Given the description of an element on the screen output the (x, y) to click on. 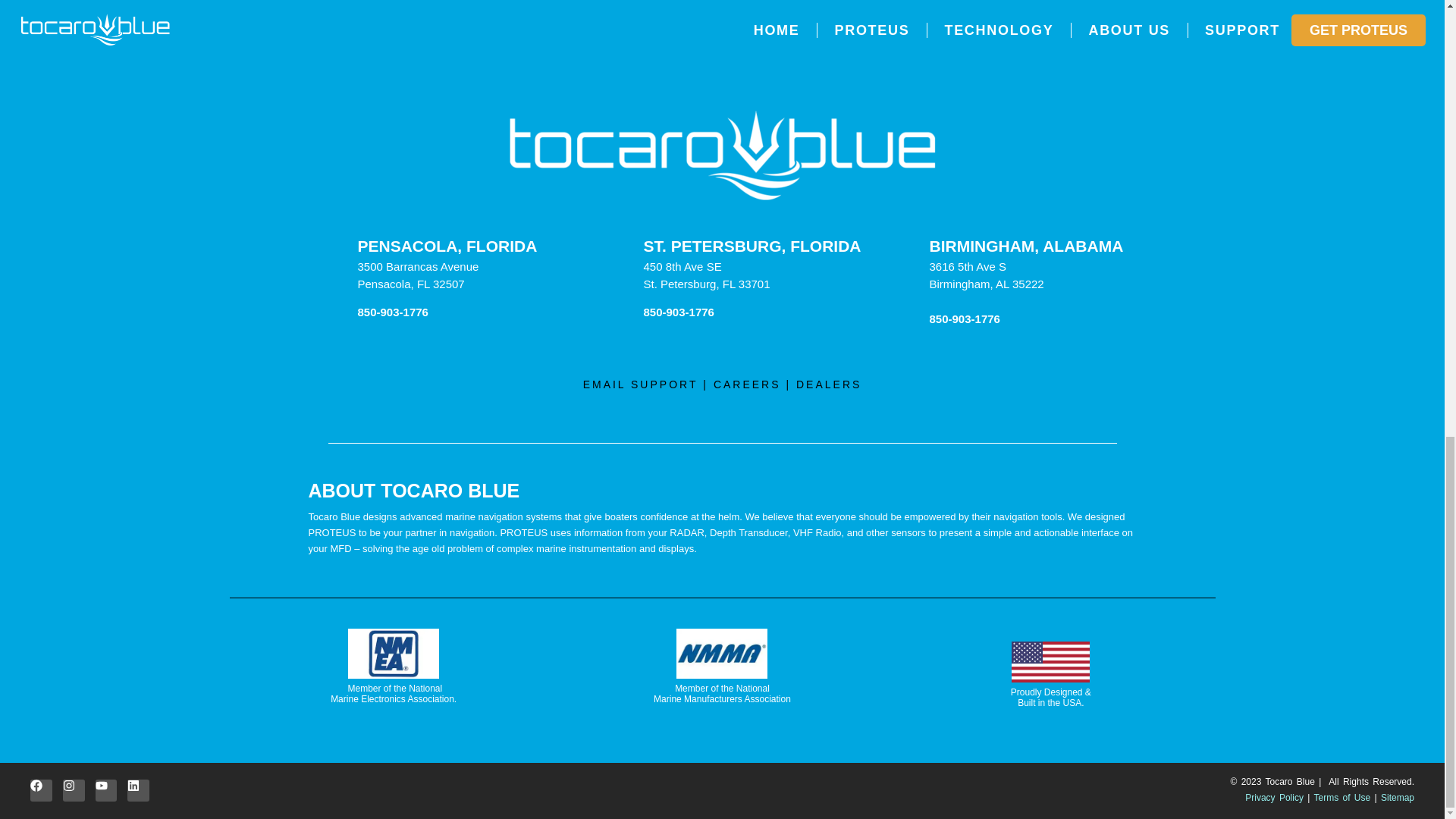
CAREERS (746, 384)
EMAIL SUPPORT (640, 384)
DEALERS (828, 384)
